Given the description of an element on the screen output the (x, y) to click on. 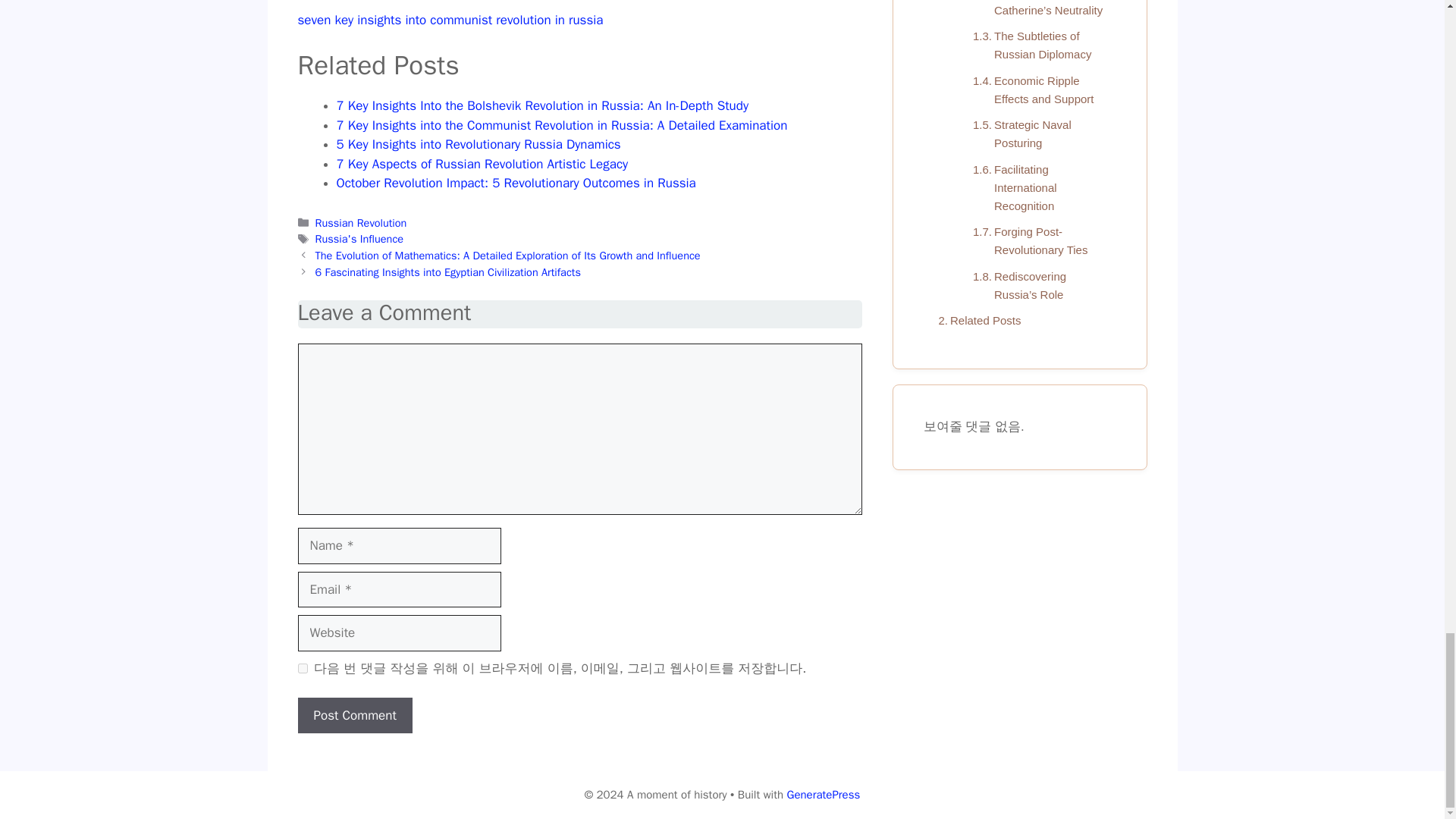
yes (302, 668)
7 Key Aspects of Russian Revolution Artistic Legacy (482, 163)
5 Key Insights into Revolutionary Russia Dynamics (478, 144)
The Subtleties of Russian Diplomacy (1036, 45)
Russia's Influence (359, 238)
seven key insights into communist revolution in russia (449, 19)
Russian Revolution (361, 223)
Post Comment (354, 715)
Economic Ripple Effects and Support (1036, 89)
Post Comment (354, 715)
6 Fascinating Insights into Egyptian Civilization Artifacts (447, 272)
